Given the description of an element on the screen output the (x, y) to click on. 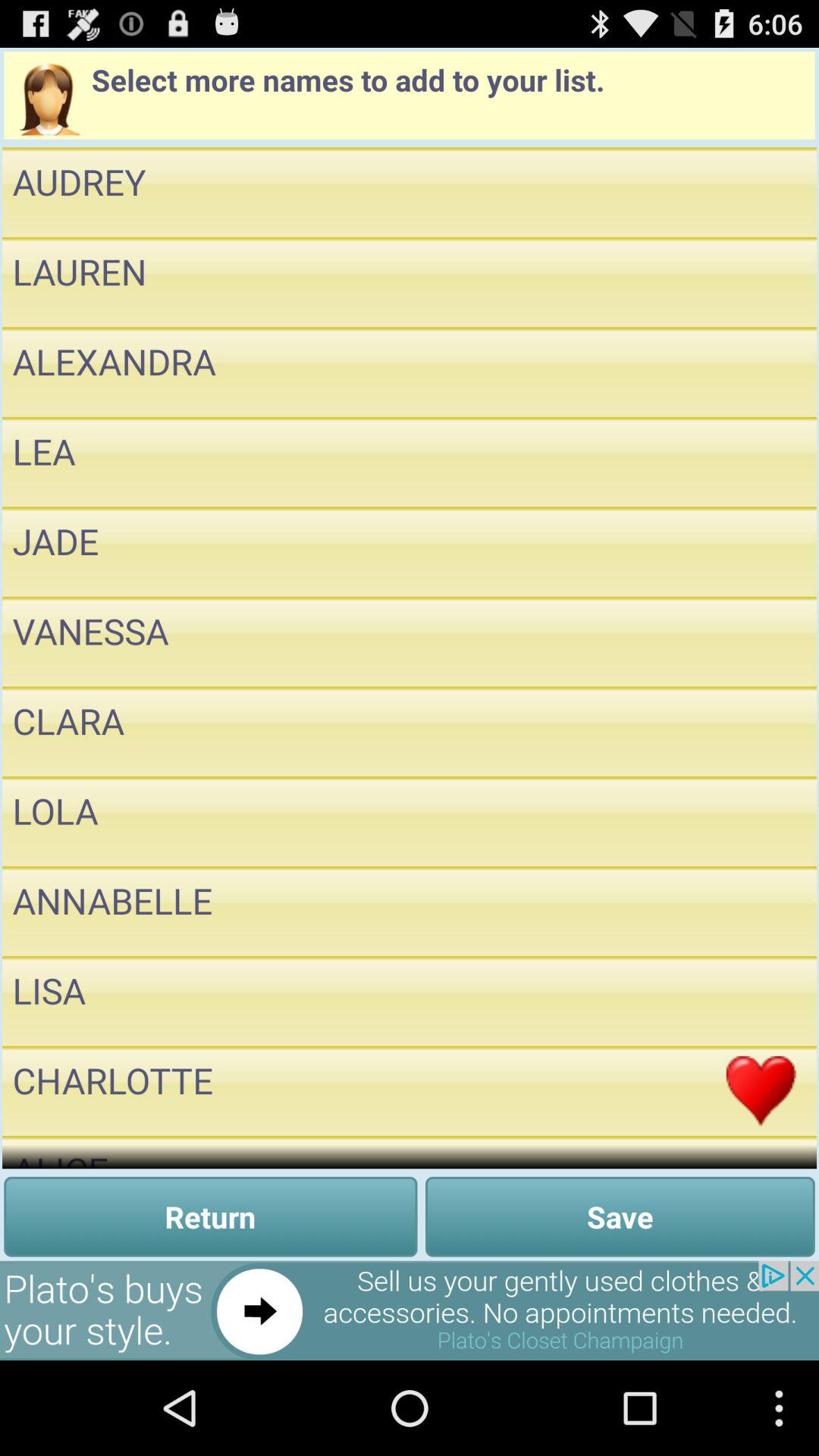
alexandra (761, 372)
